Given the description of an element on the screen output the (x, y) to click on. 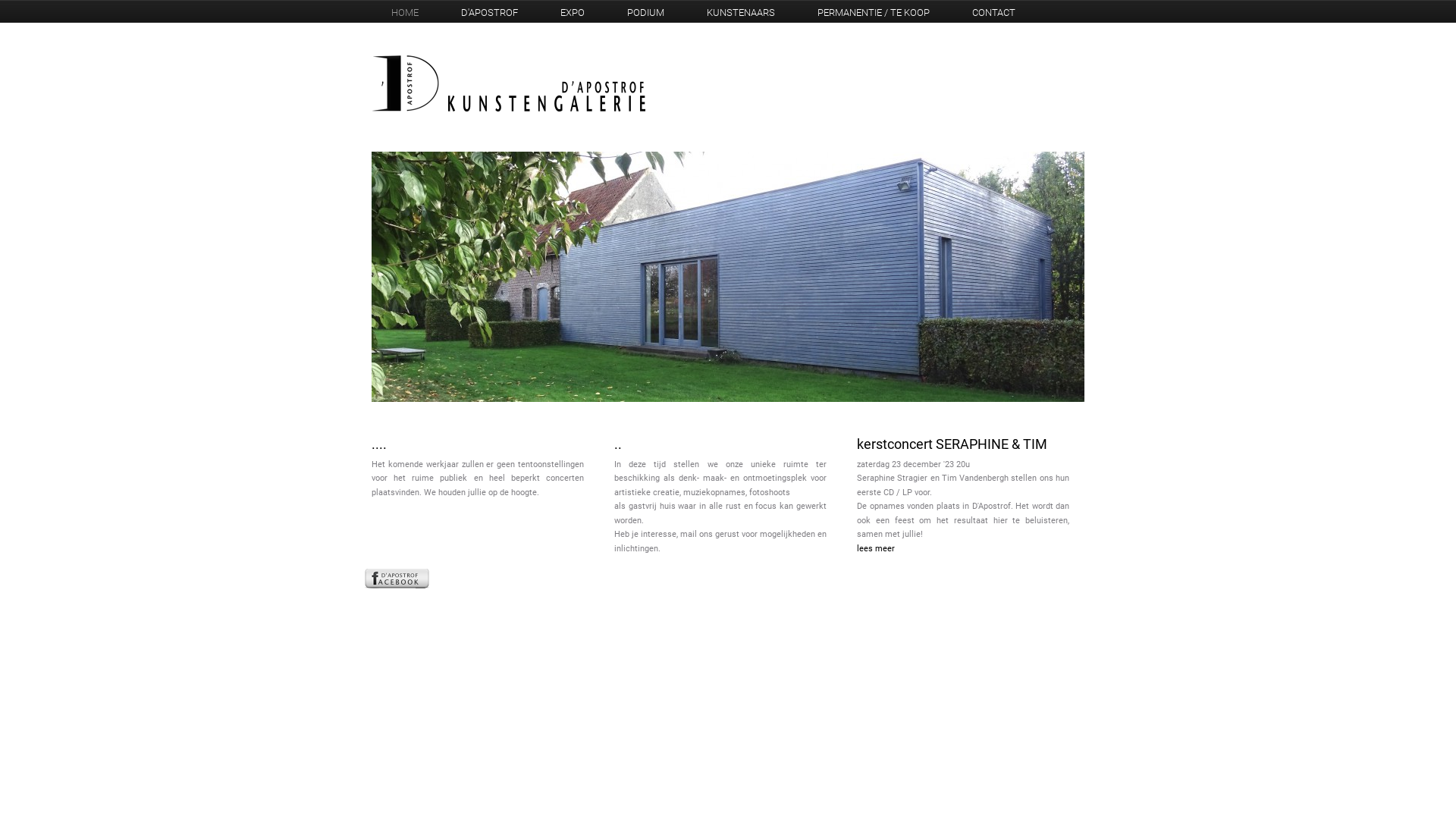
PERMANENTIE / TE KOOP Element type: text (873, 12)
D'APOSTROF Element type: text (489, 12)
PODIUM Element type: text (645, 12)
KUNSTENAARS Element type: text (740, 12)
HOME Element type: text (404, 12)
CONTACT Element type: text (993, 12)
lees meer Element type: text (962, 548)
EXPO Element type: text (572, 12)
